Given the description of an element on the screen output the (x, y) to click on. 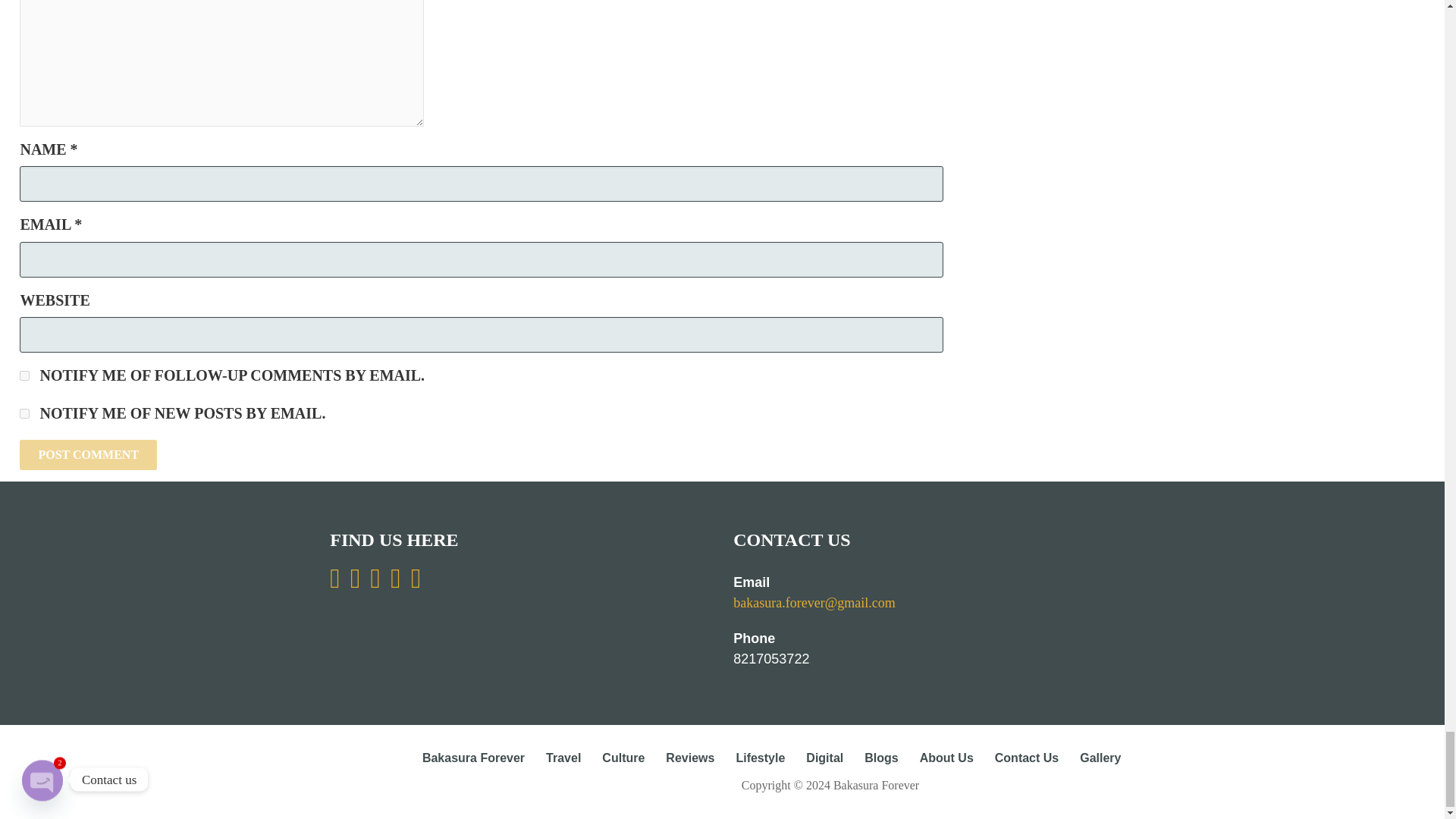
Post Comment (88, 454)
subscribe (24, 375)
Post Comment (88, 454)
subscribe (24, 413)
